Given the description of an element on the screen output the (x, y) to click on. 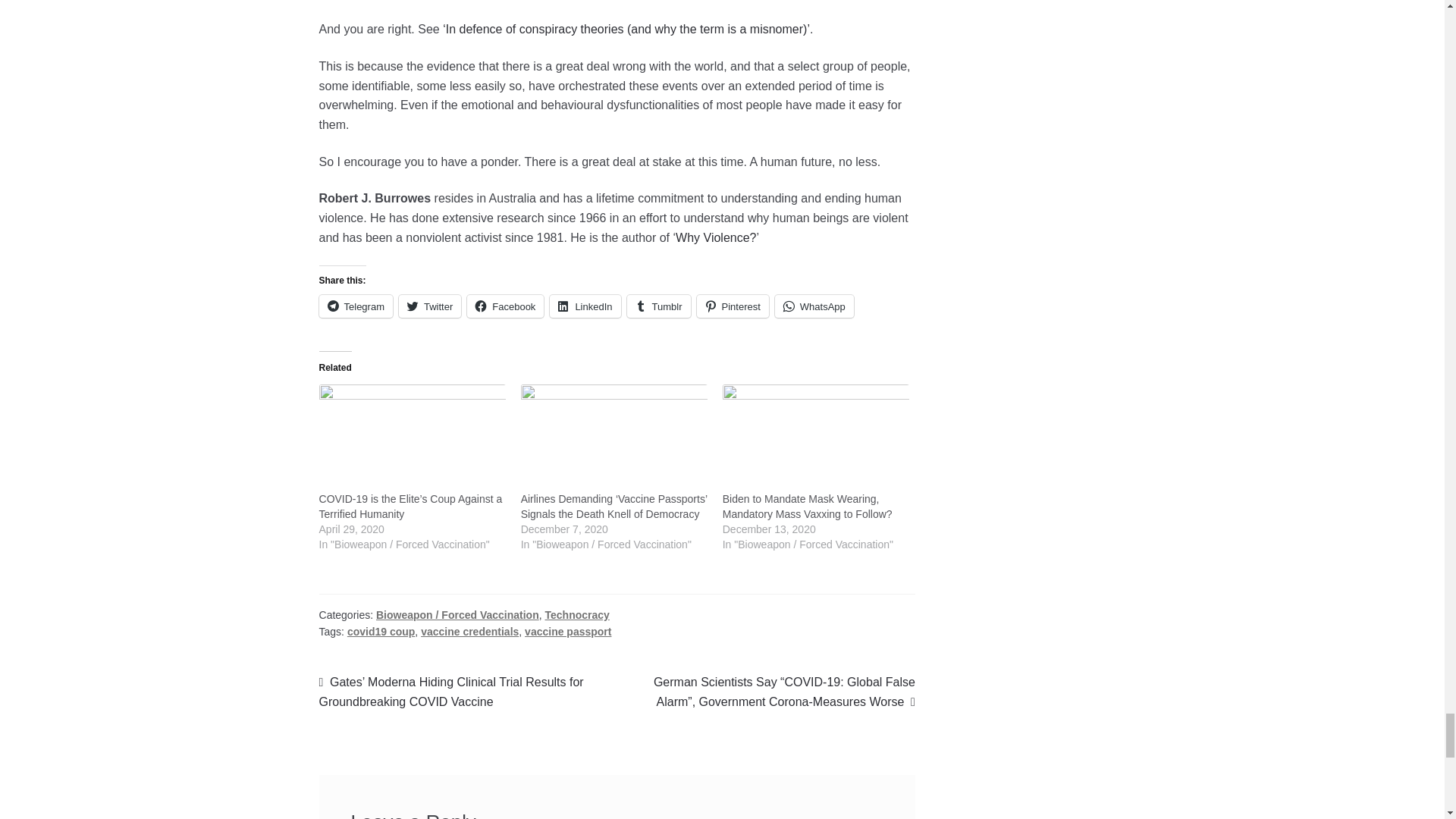
Click to share on WhatsApp (813, 305)
Click to share on Facebook (505, 305)
Click to share on Telegram (355, 305)
Click to share on Twitter (429, 305)
Click to share on Pinterest (731, 305)
Click to share on LinkedIn (585, 305)
Click to share on Tumblr (658, 305)
